Given the description of an element on the screen output the (x, y) to click on. 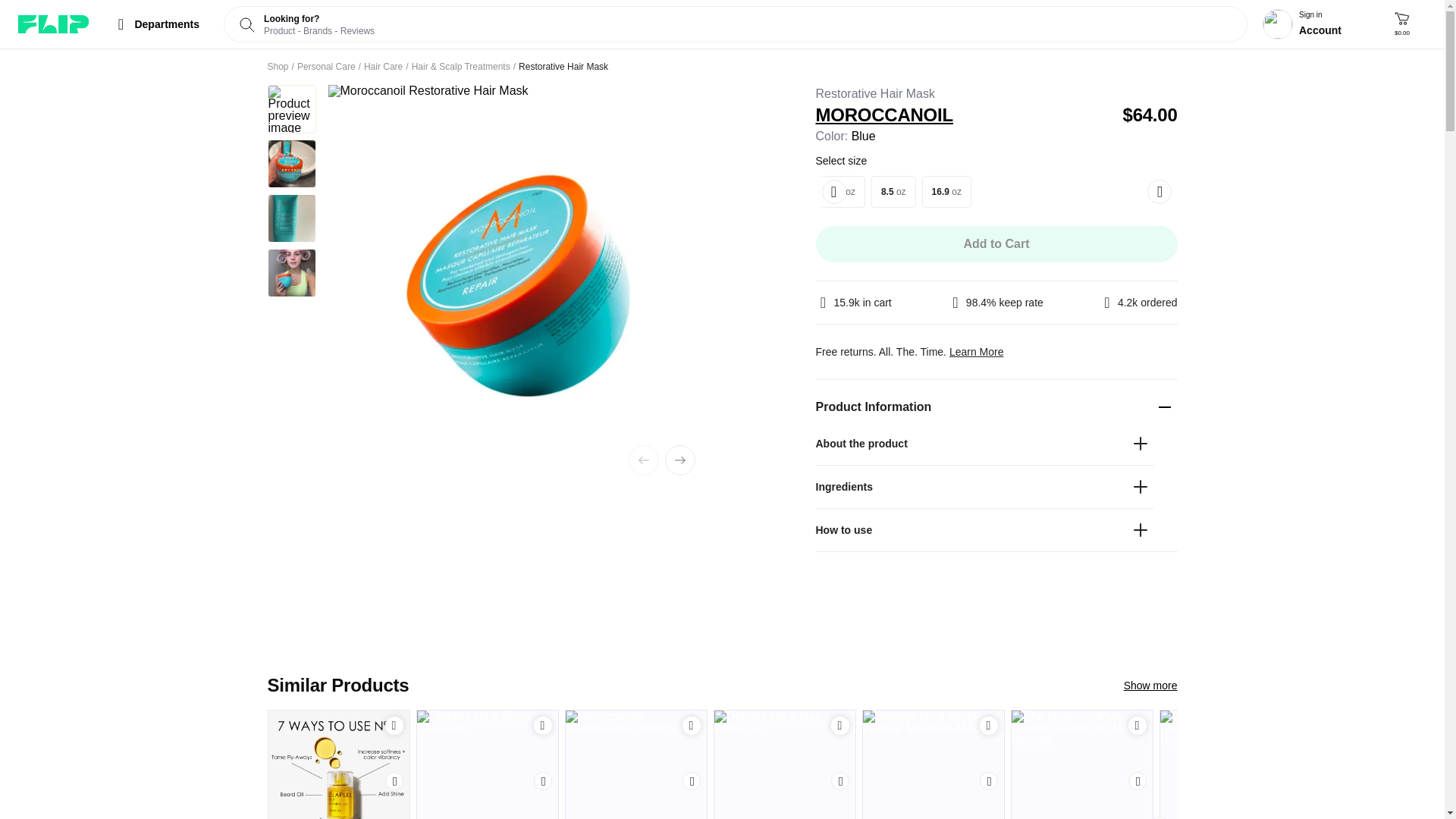
Moroccanoil Moroccanoil Treatment (636, 764)
2.53 oz (839, 192)
16.9 oz (946, 192)
Hair Care (383, 66)
MOROCCANOIL (963, 115)
Add to Cart (542, 725)
Flip feed (52, 24)
Personal Care (326, 66)
Add to Cart (542, 725)
Go to show more (1150, 685)
Add to Cart (691, 725)
Learn More (976, 351)
Add to Cart (394, 725)
Olaplex No.6 Bond Smoother (486, 764)
Moroccanoil (963, 115)
